Given the description of an element on the screen output the (x, y) to click on. 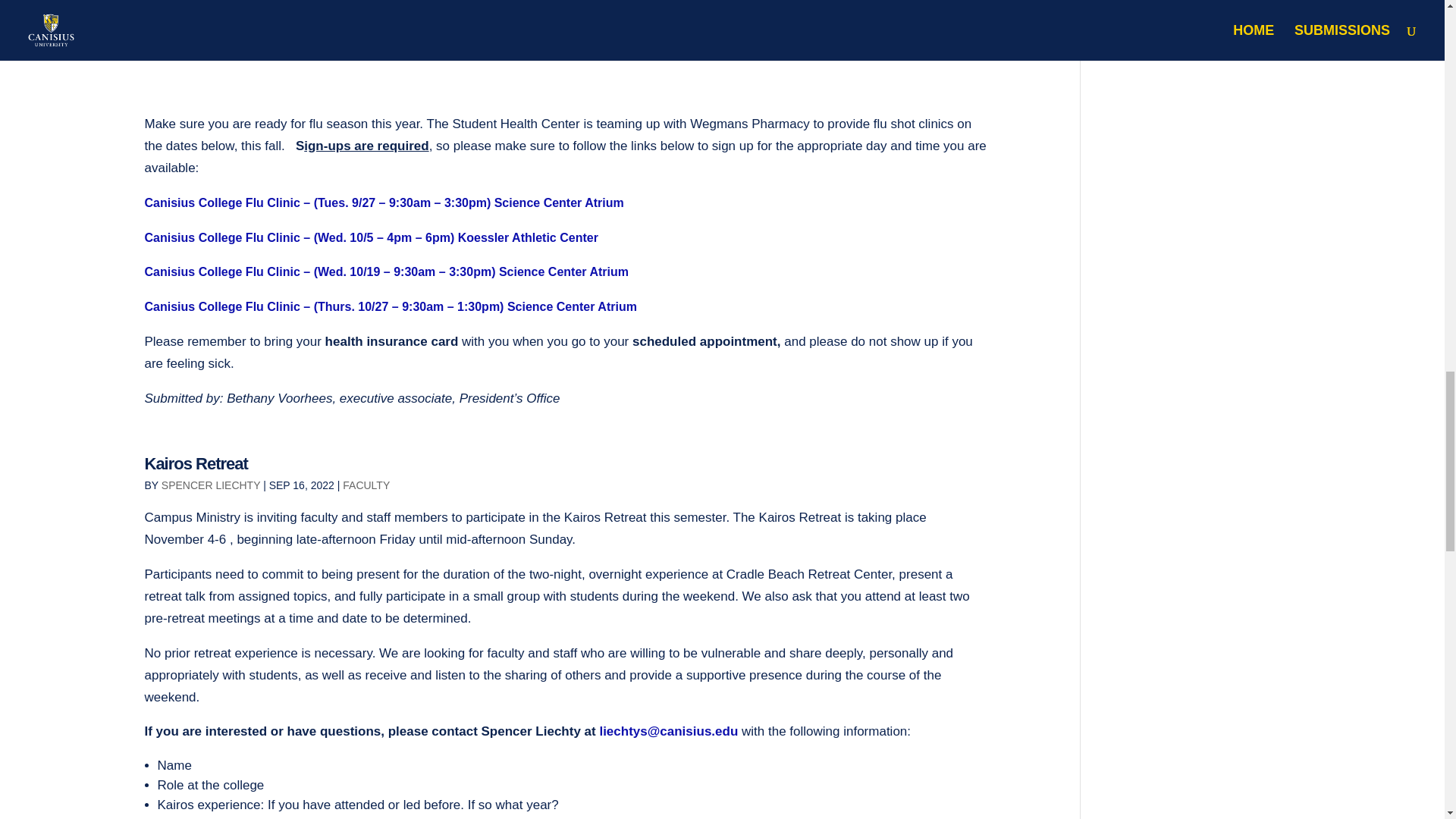
SPENCER LIECHTY (210, 485)
Posts by Spencer Liechty (210, 485)
Kairos Retreat (195, 463)
FACULTY (366, 485)
